Given the description of an element on the screen output the (x, y) to click on. 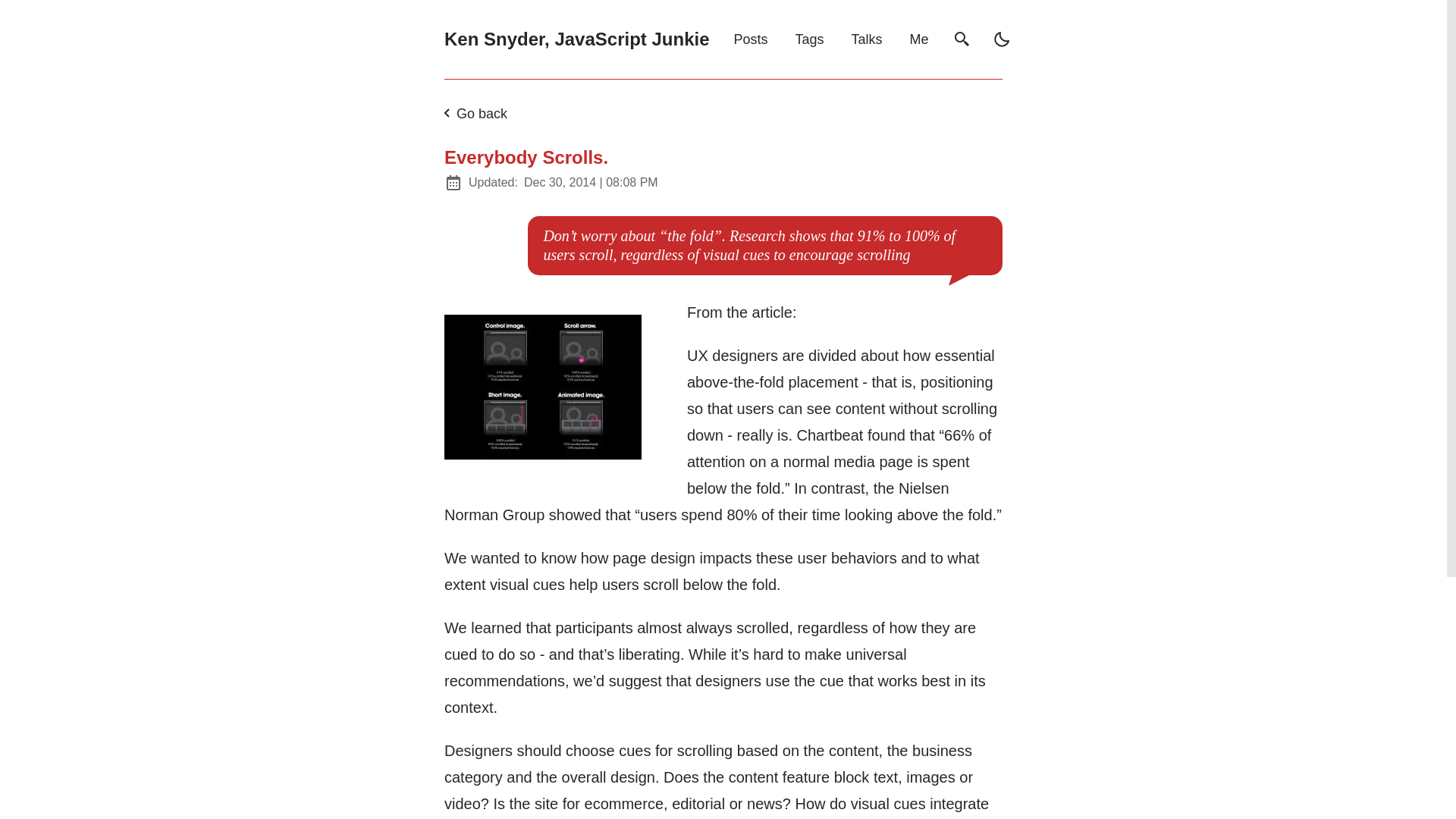
Tags (809, 38)
Search (962, 39)
Search (962, 39)
Me (919, 38)
Posts (751, 38)
Talks (866, 38)
Ken Snyder, JavaScript Junkie (577, 39)
Go back (472, 114)
